Given the description of an element on the screen output the (x, y) to click on. 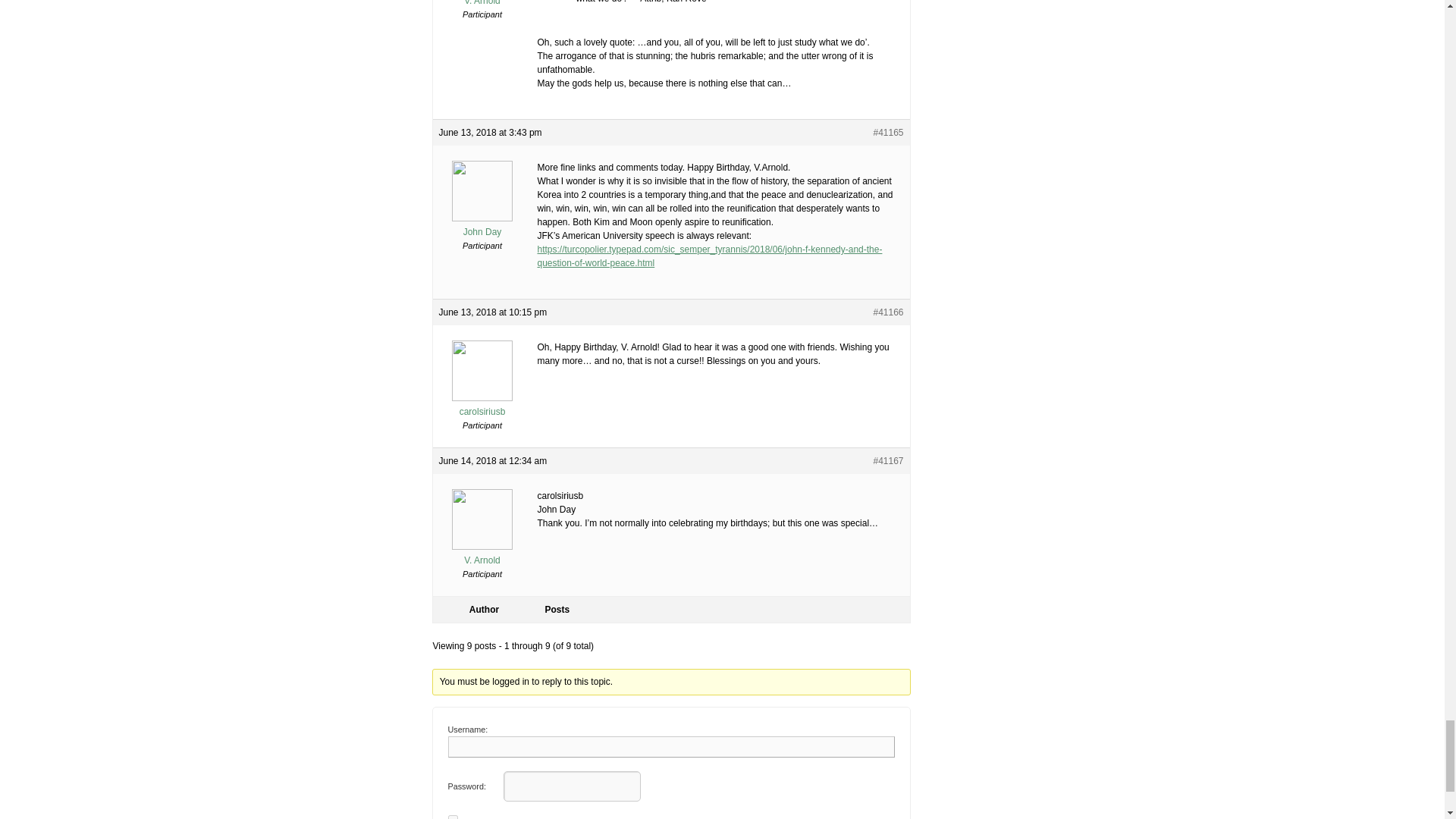
View carolsiriusb's profile (481, 405)
View V. Arnold's profile (481, 3)
forever (451, 816)
View V. Arnold's profile (481, 554)
View John Day's profile (481, 225)
